Given the description of an element on the screen output the (x, y) to click on. 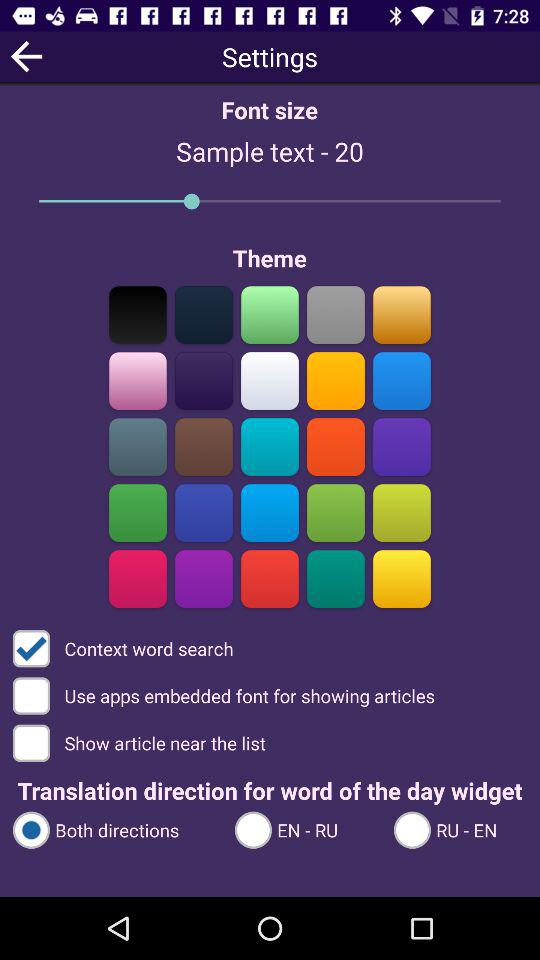
select orange as font color (335, 446)
